Given the description of an element on the screen output the (x, y) to click on. 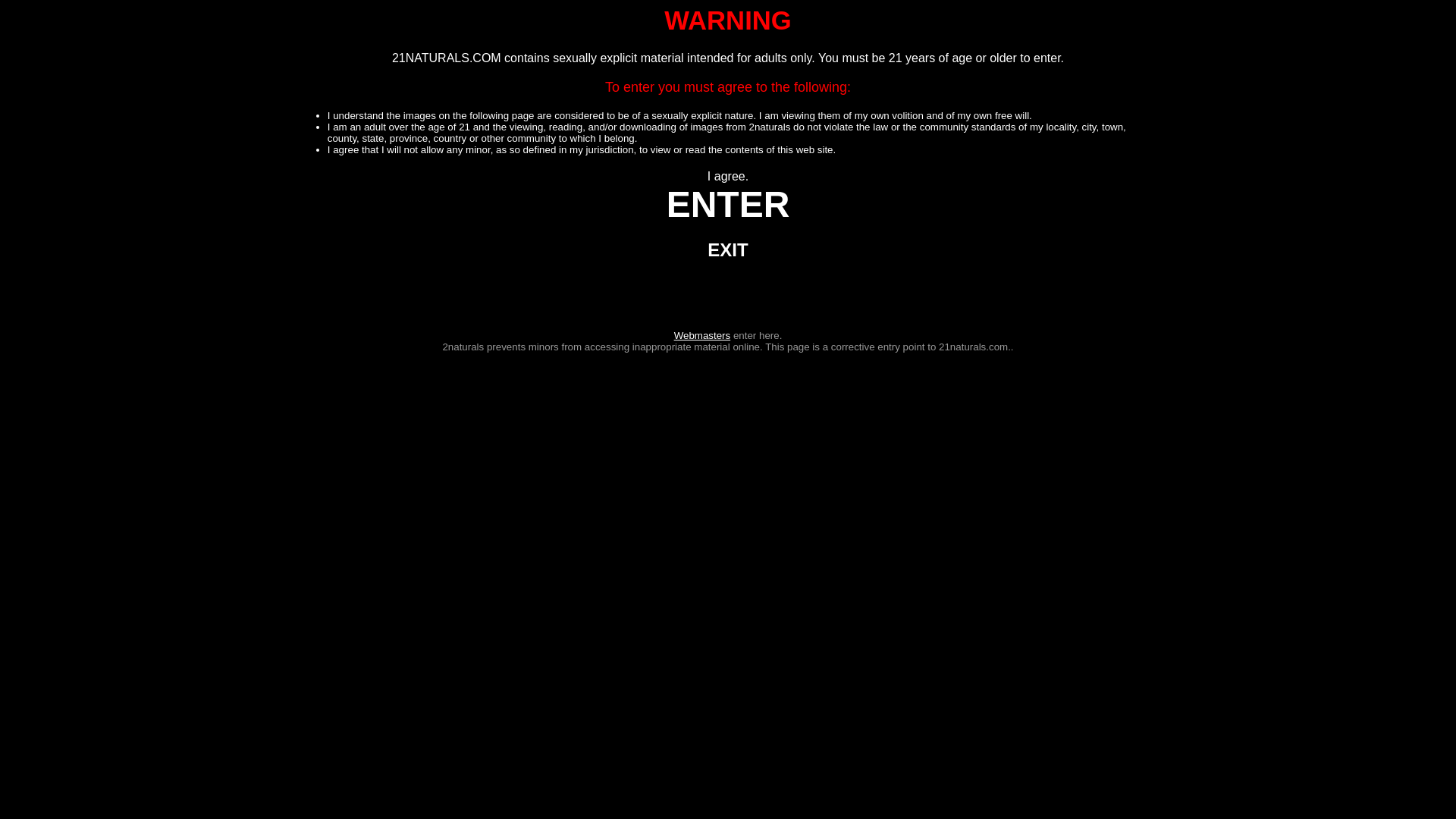
Webmasters Element type: text (702, 335)
EXIT Element type: text (727, 251)
ENTER Element type: text (728, 212)
